Given the description of an element on the screen output the (x, y) to click on. 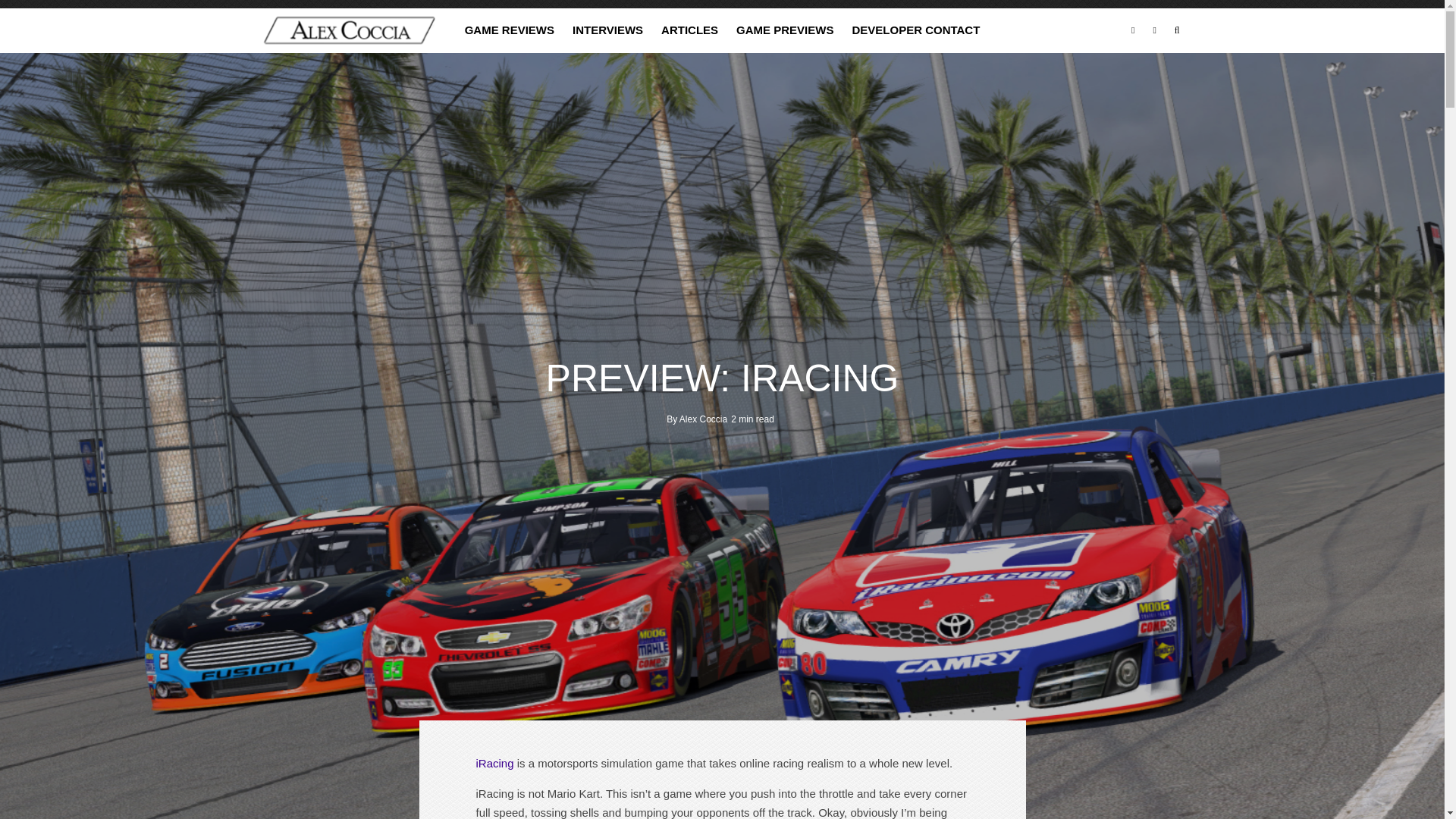
ARTICLES (689, 30)
GAME REVIEWS (509, 30)
GAME PREVIEWS (784, 30)
iRacing homepage (494, 762)
INTERVIEWS (607, 30)
